Given the description of an element on the screen output the (x, y) to click on. 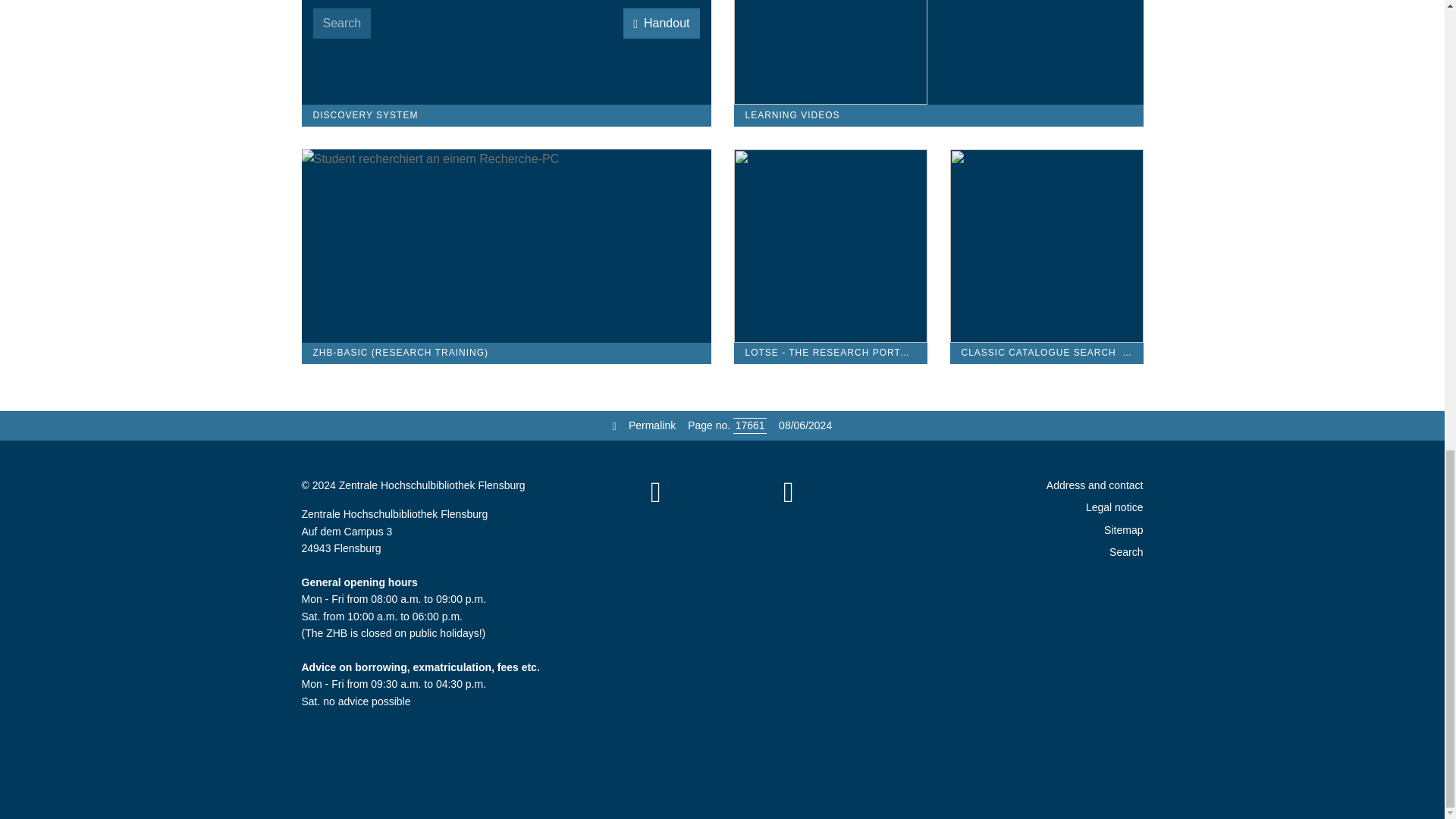
Last modified (804, 425)
Please enter the desired page number and press ENTER (750, 425)
Search (342, 23)
Recherche (506, 246)
17661 (750, 425)
